Given the description of an element on the screen output the (x, y) to click on. 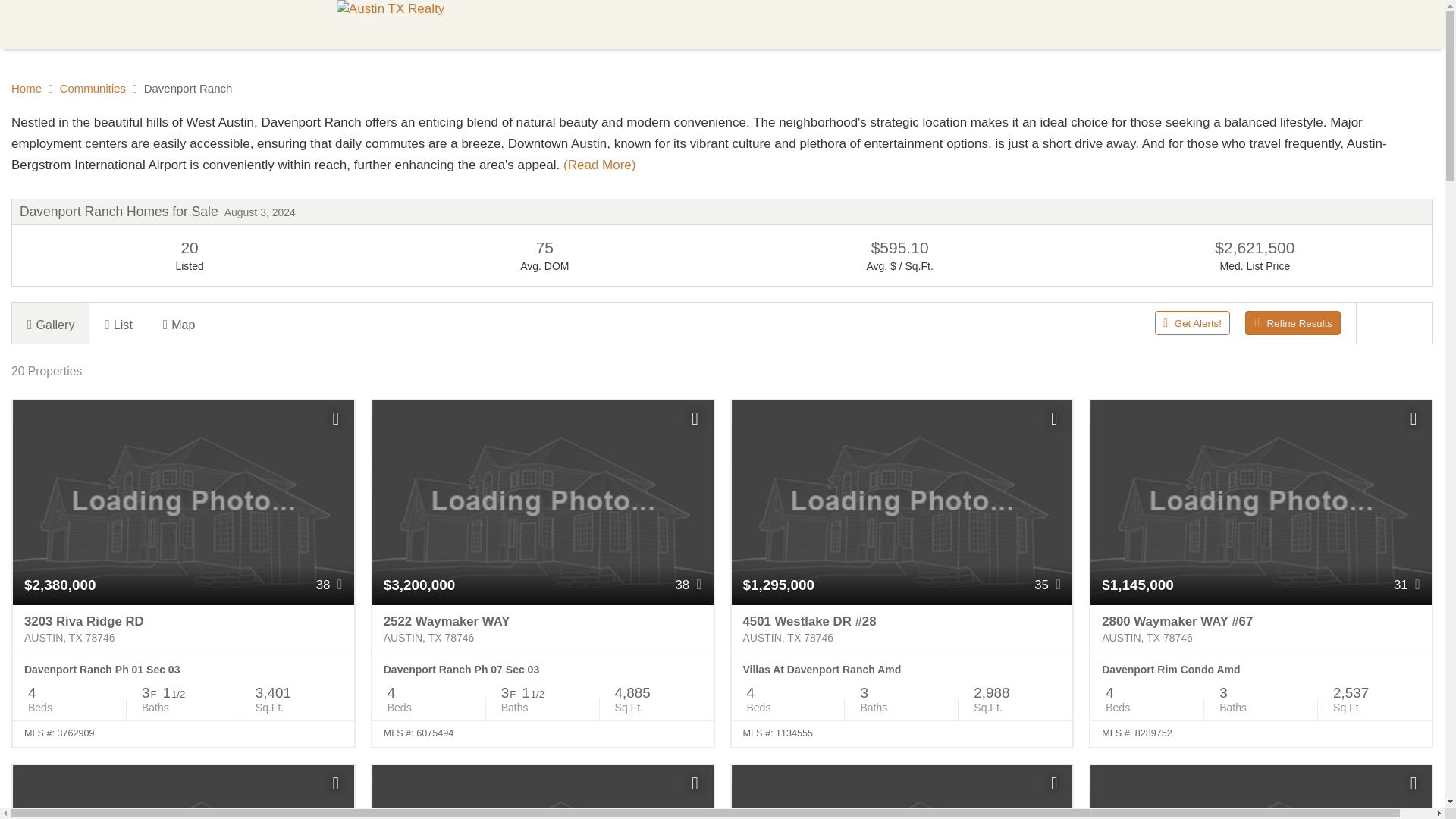
2522 Waymaker WAY Austin,  TX 78746 (542, 629)
3203 Riva Ridge RD Austin,  TX 78746 (183, 629)
